Given the description of an element on the screen output the (x, y) to click on. 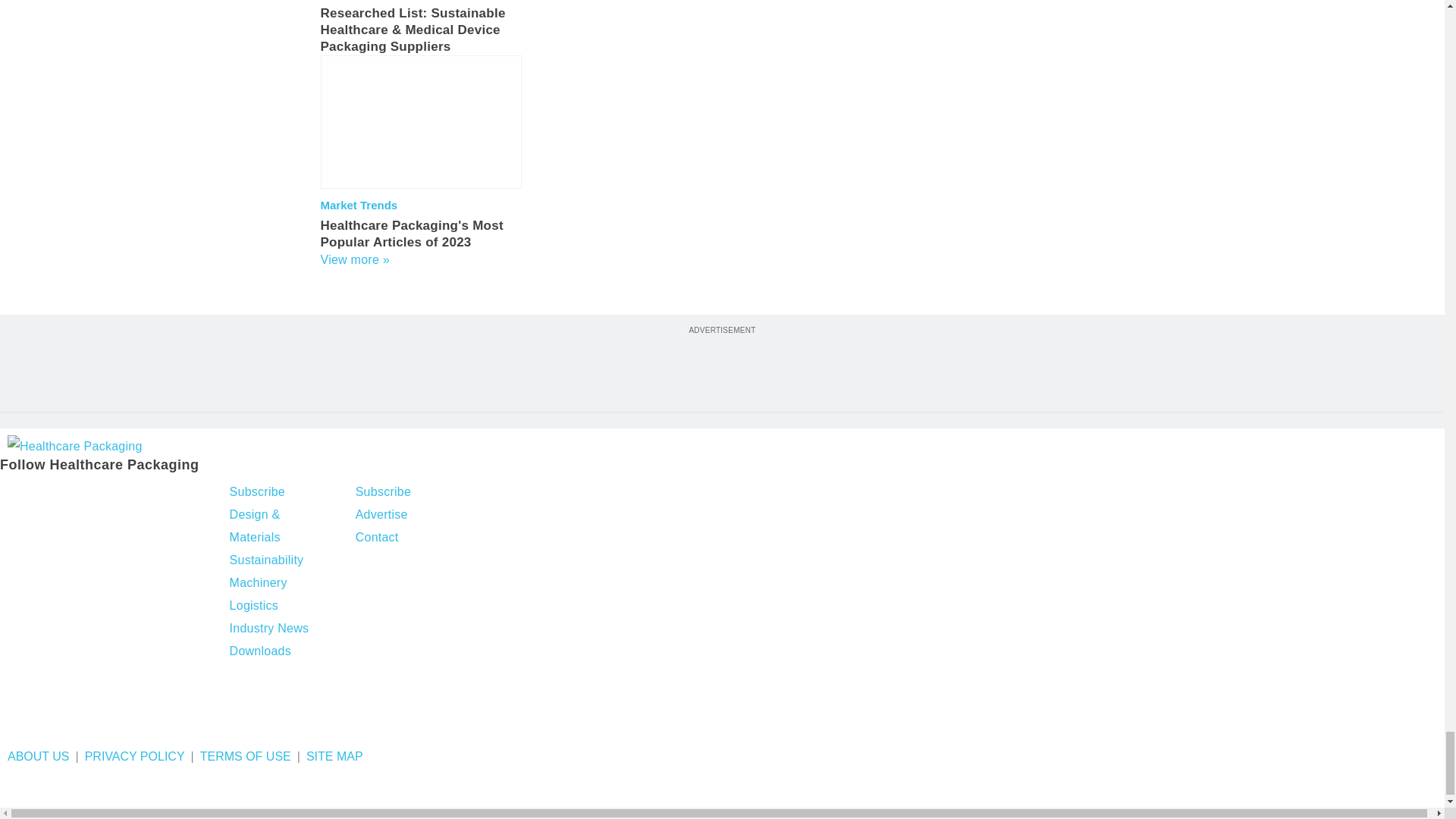
LinkedIn icon (94, 493)
YouTube icon (133, 493)
Twitter X icon (52, 493)
Facebook icon (13, 493)
